Given the description of an element on the screen output the (x, y) to click on. 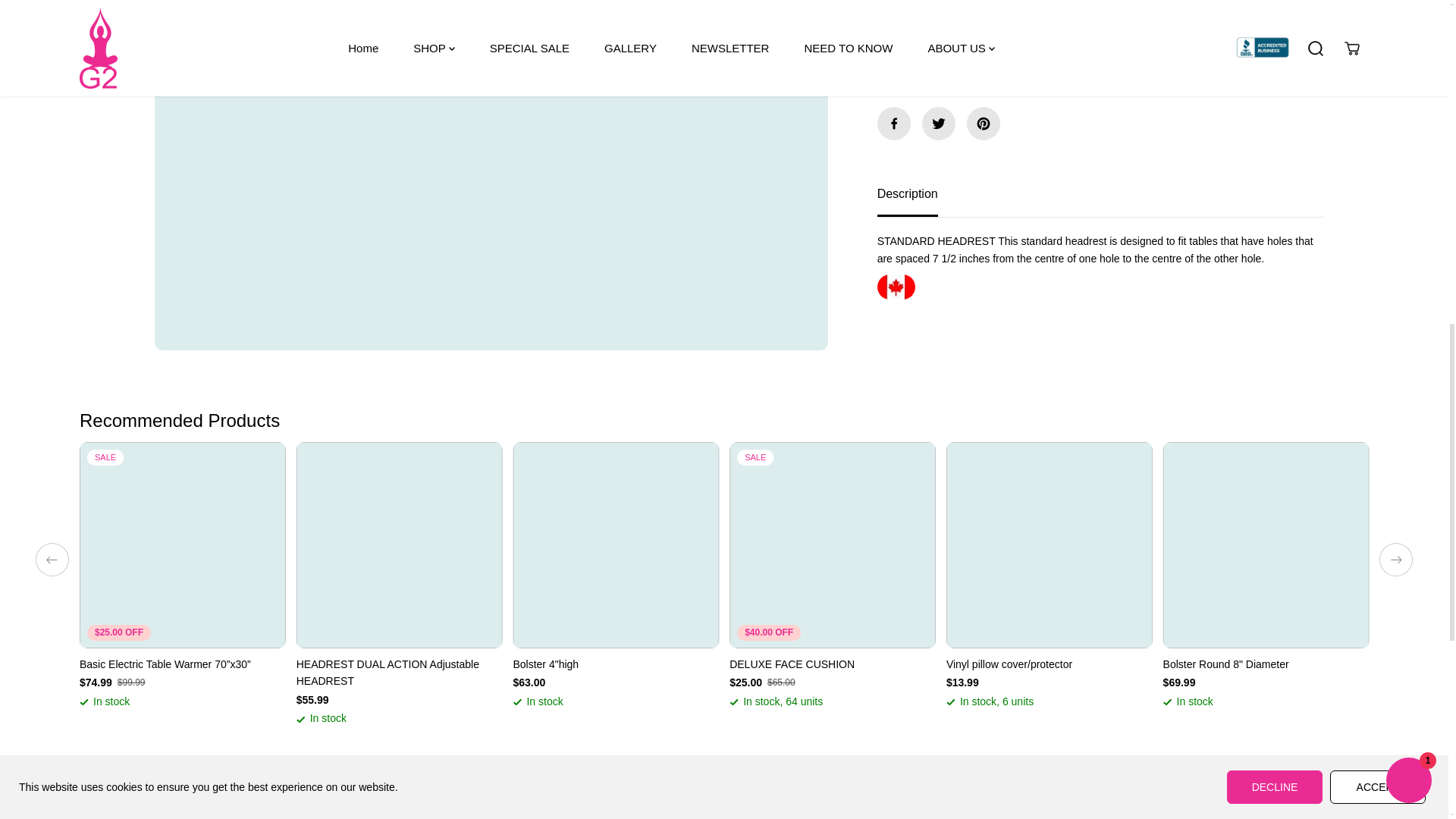
Bolster 4 (615, 664)
HEADREST DUAL ACTION Adjustable HEADREST (399, 673)
DELUXE FACE CUSHION (832, 664)
